Given the description of an element on the screen output the (x, y) to click on. 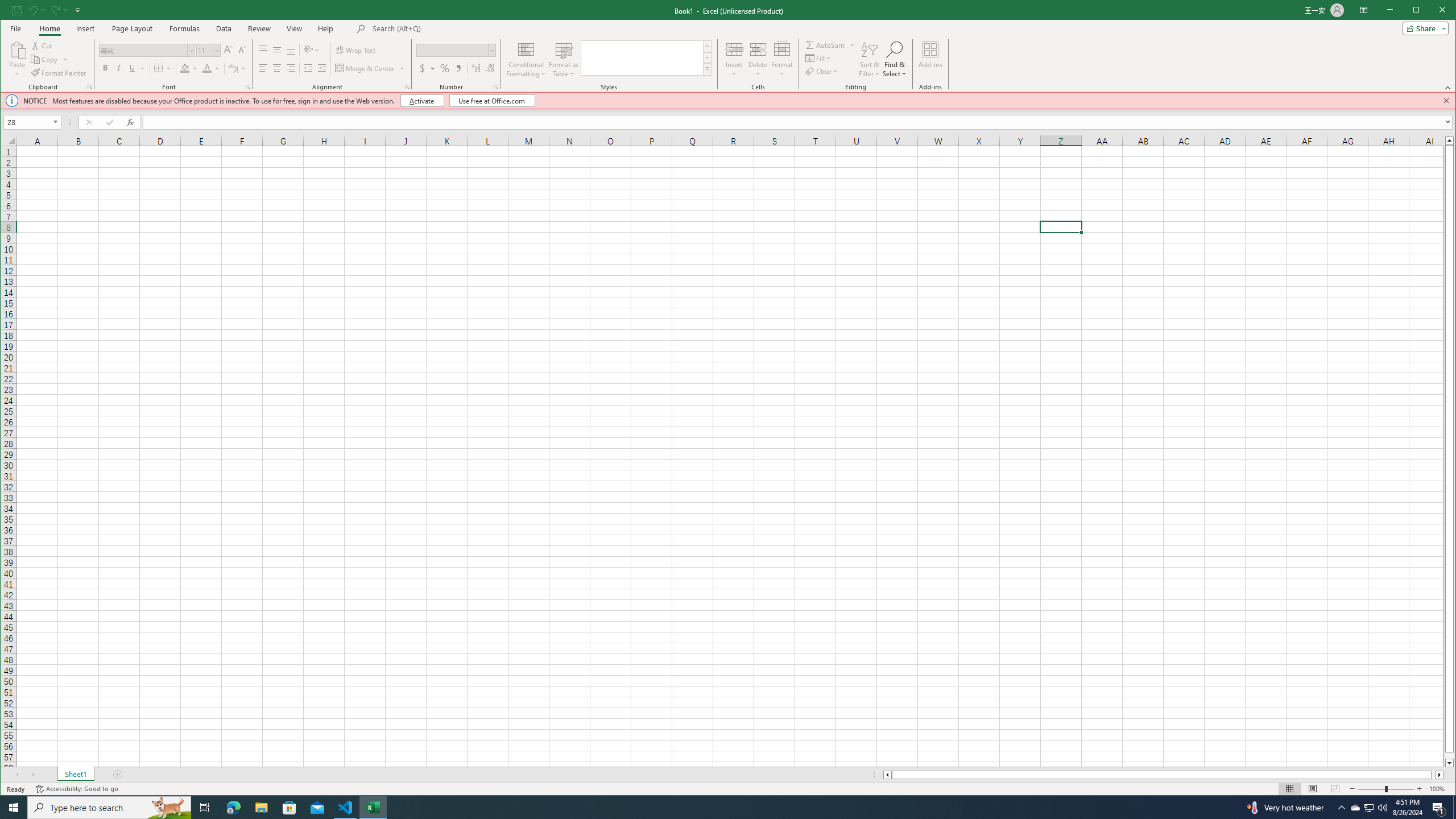
Insert Cells (733, 48)
Top Align (263, 49)
AutomationID: CellStylesGallery (646, 57)
